Given the description of an element on the screen output the (x, y) to click on. 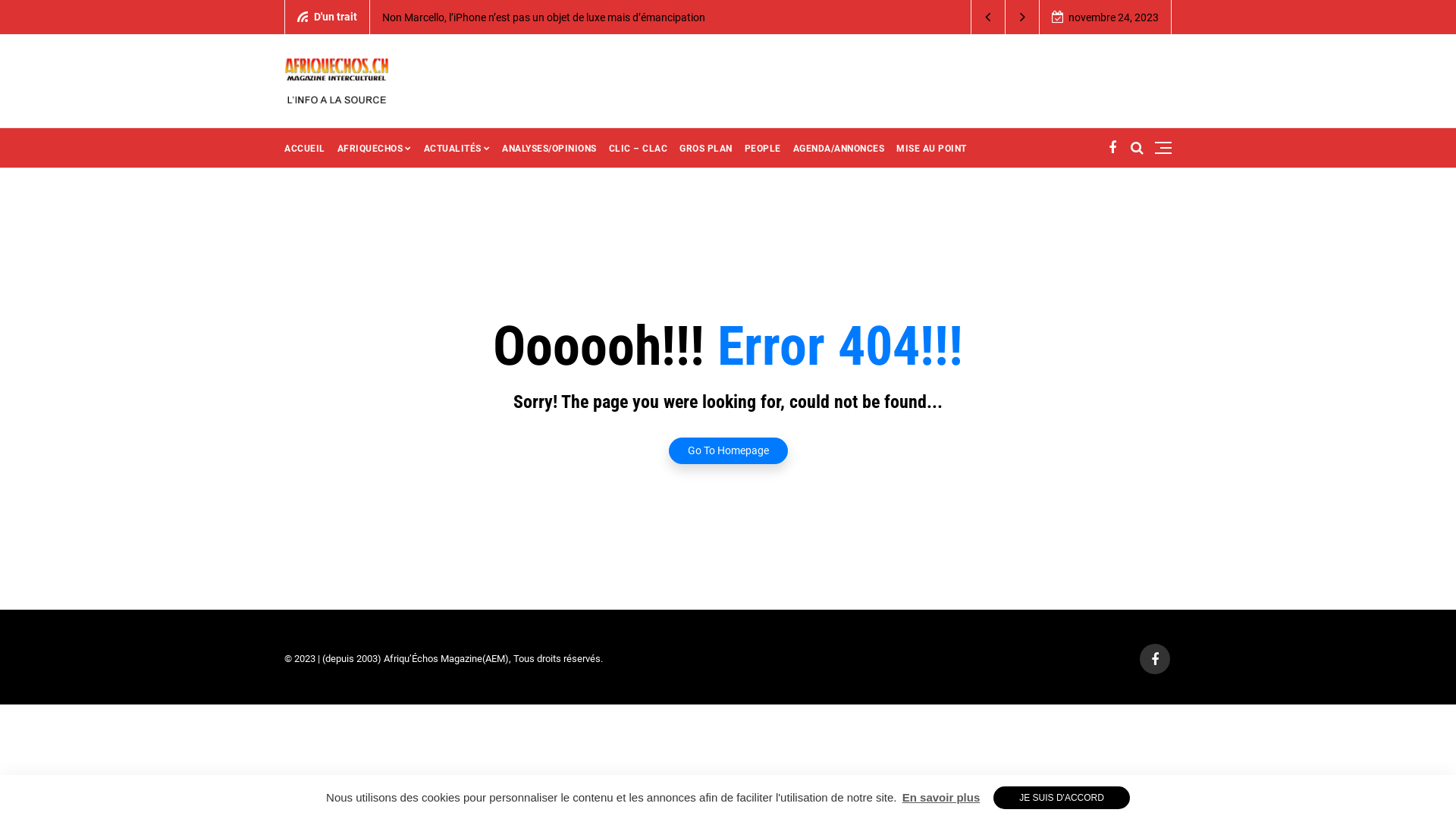
JE SUIS D'ACCORD Element type: text (1061, 797)
Go To Homepage Element type: text (727, 446)
Advertisement Element type: hover (863, 79)
En savoir plus Element type: text (941, 797)
ACCUEIL Element type: text (307, 147)
AGENDA/ANNONCES Element type: text (839, 147)
ANALYSES/OPINIONS Element type: text (548, 147)
GROS PLAN Element type: text (705, 147)
MISE AU POINT Element type: text (931, 147)
AFRIQUECHOS Element type: text (373, 147)
PEOPLE Element type: text (762, 147)
